Given the description of an element on the screen output the (x, y) to click on. 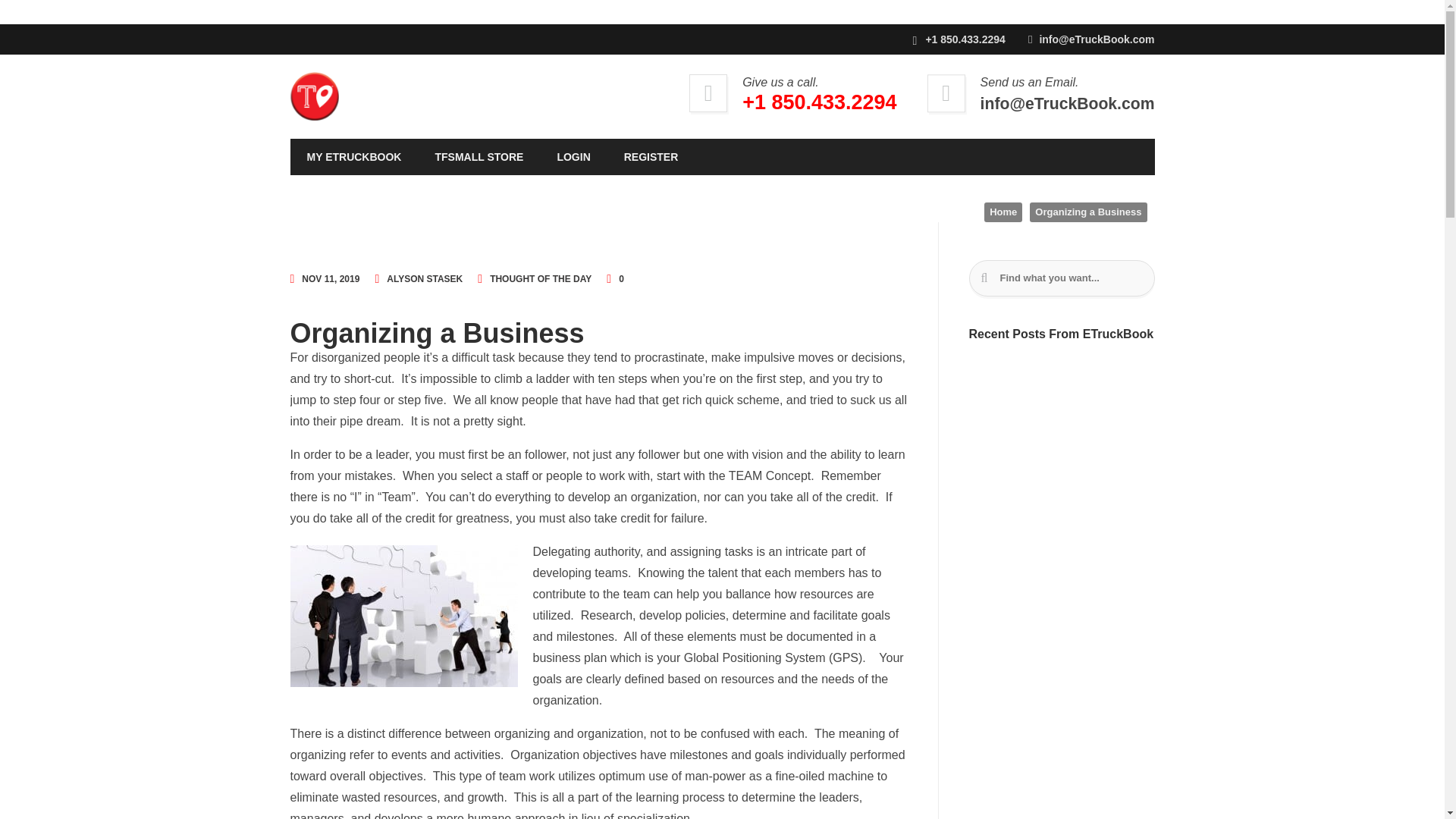
ALYSON STASEK (418, 279)
MY ETRUCKBOOK (353, 156)
Home (1003, 211)
TFSMALL STORE (478, 156)
0 (615, 279)
LOGIN (573, 156)
THOUGHT OF THE DAY (540, 279)
REGISTER (651, 156)
